Given the description of an element on the screen output the (x, y) to click on. 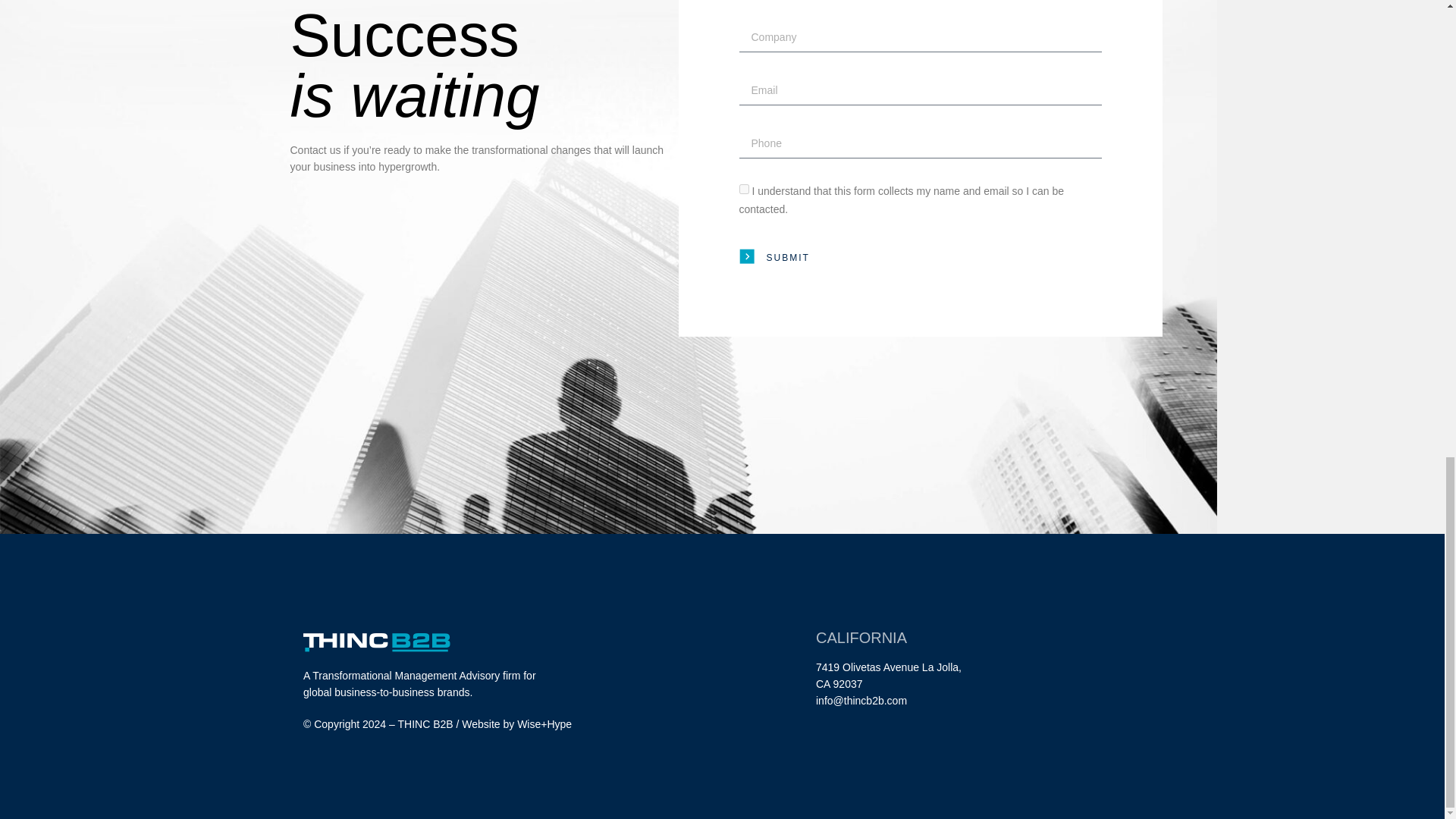
SUBMIT (773, 258)
on (743, 189)
7419 Olivetas Avenue (866, 666)
